Given the description of an element on the screen output the (x, y) to click on. 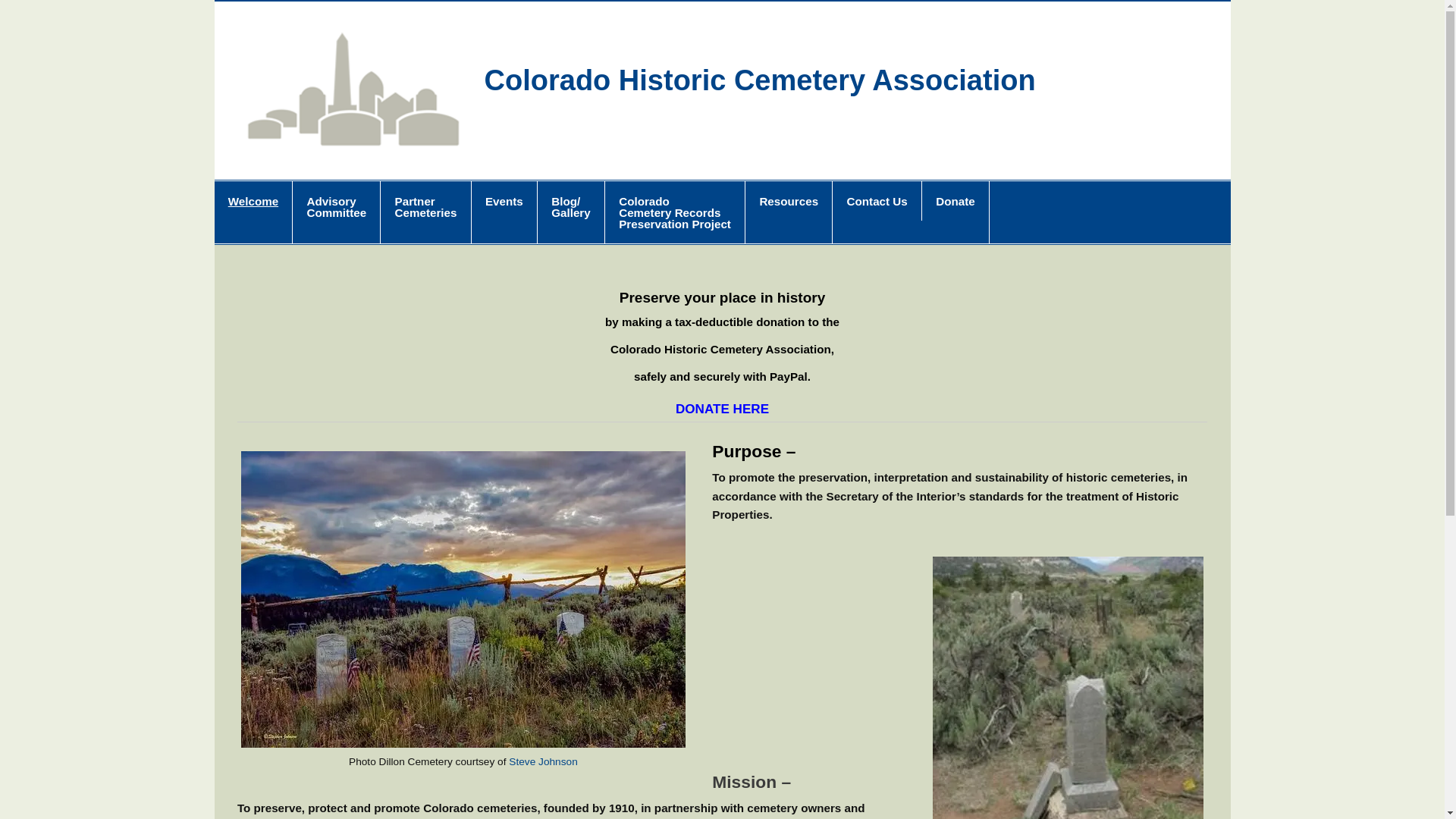
Colorado Historic Cemetery Association (759, 80)
Welcome (425, 211)
DONATE HERE (253, 211)
Resources (721, 409)
Events (336, 211)
Donate (788, 211)
Steve Johnson (504, 211)
Contact Us (954, 211)
